Given the description of an element on the screen output the (x, y) to click on. 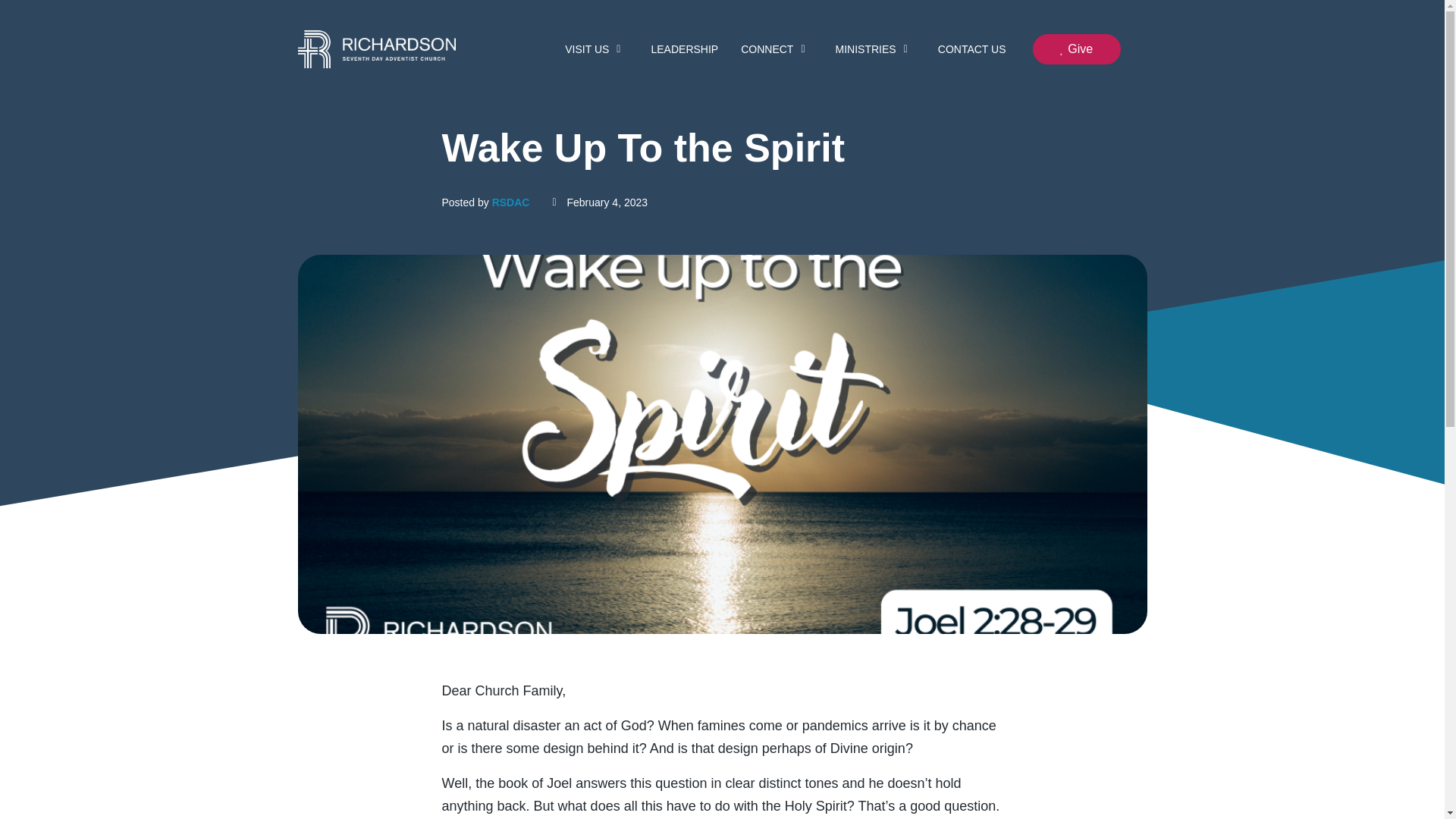
CONNECT (776, 49)
Give (1076, 49)
February 4, 2023 (599, 201)
VISIT US (596, 49)
MINISTRIES (875, 49)
LEADERSHIP (684, 49)
Posted by RSDAC (485, 201)
CONTACT US (971, 49)
